Given the description of an element on the screen output the (x, y) to click on. 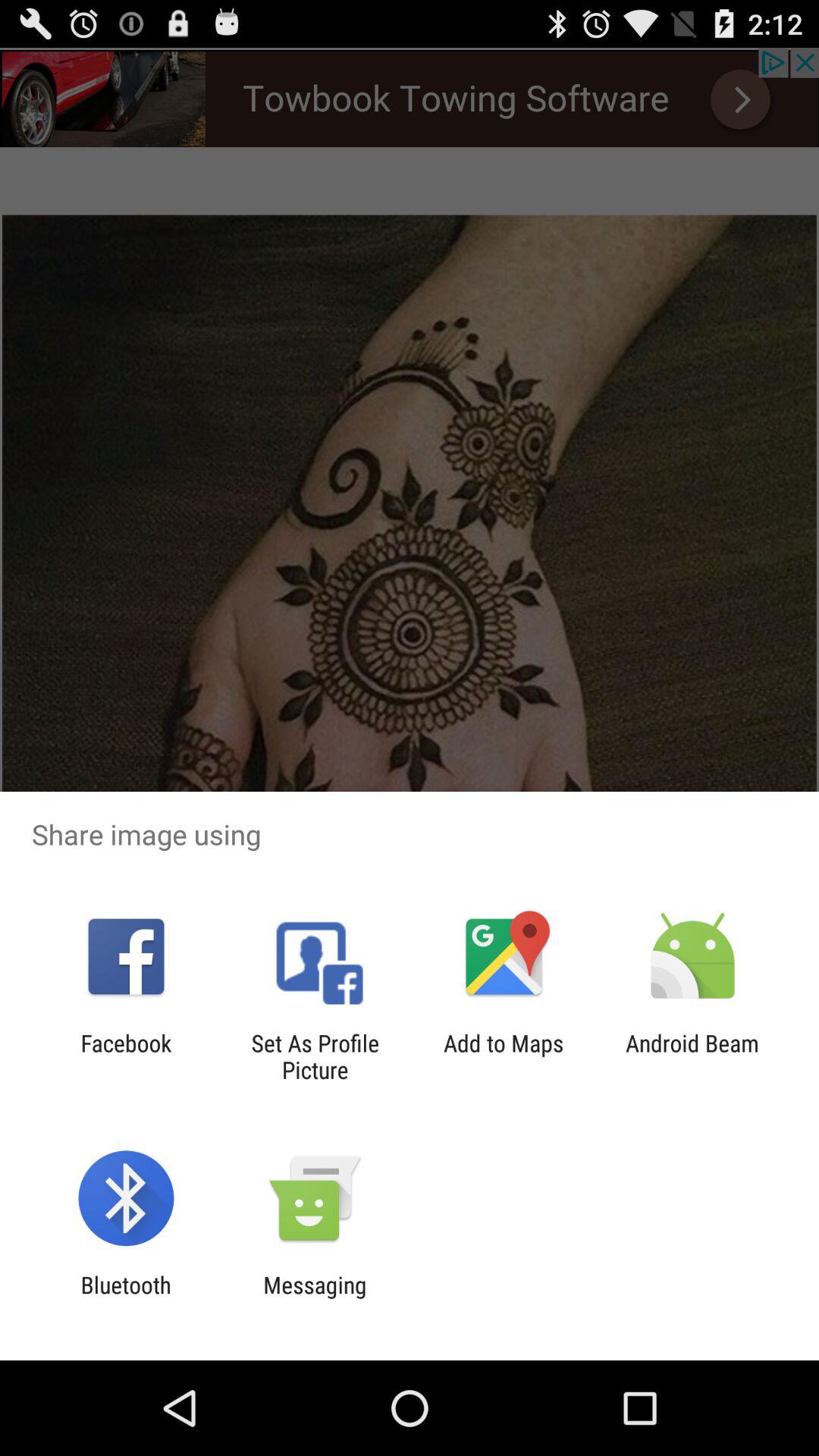
tap the messaging (314, 1298)
